Given the description of an element on the screen output the (x, y) to click on. 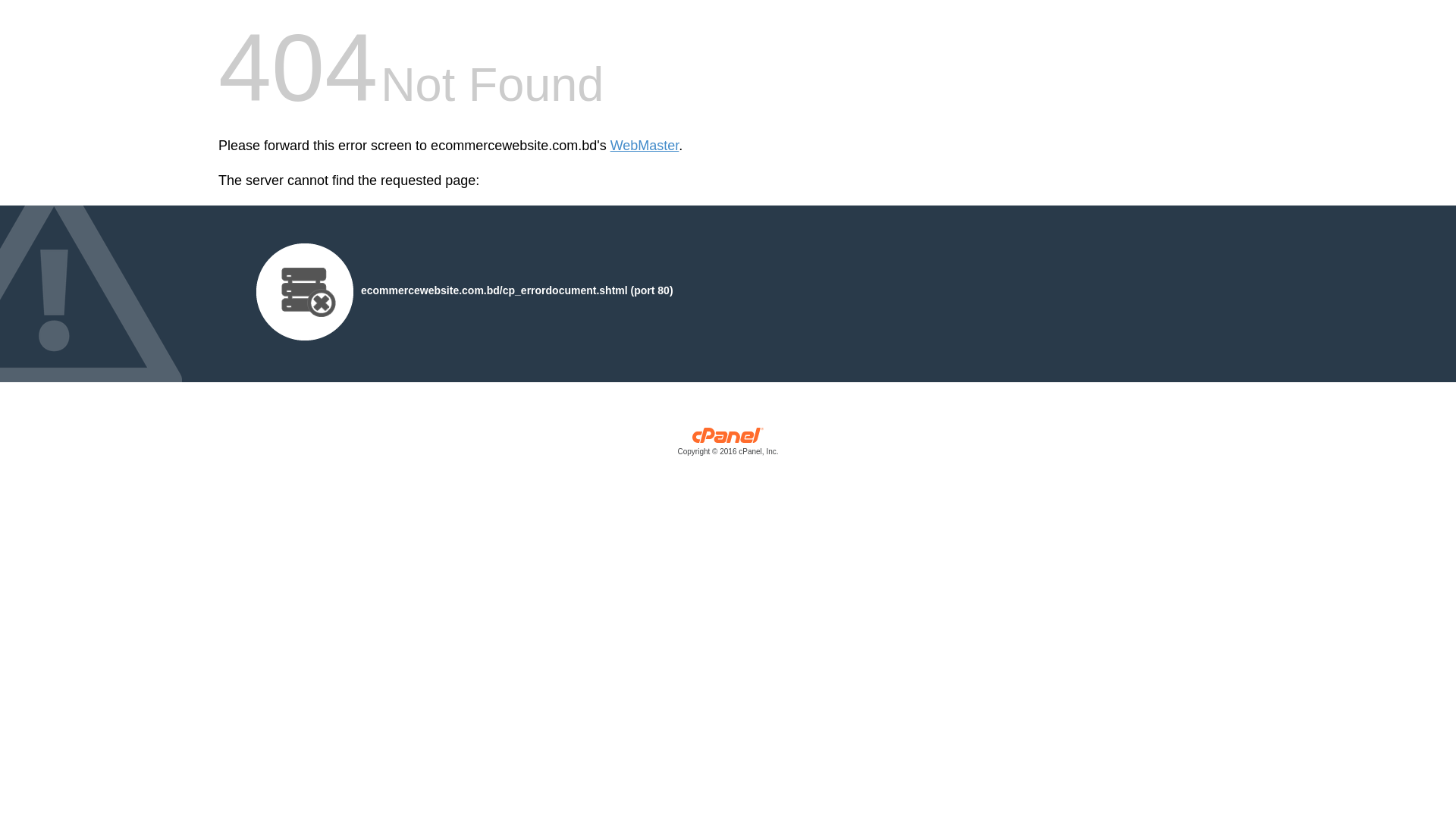
WebMaster Element type: text (644, 145)
